Given the description of an element on the screen output the (x, y) to click on. 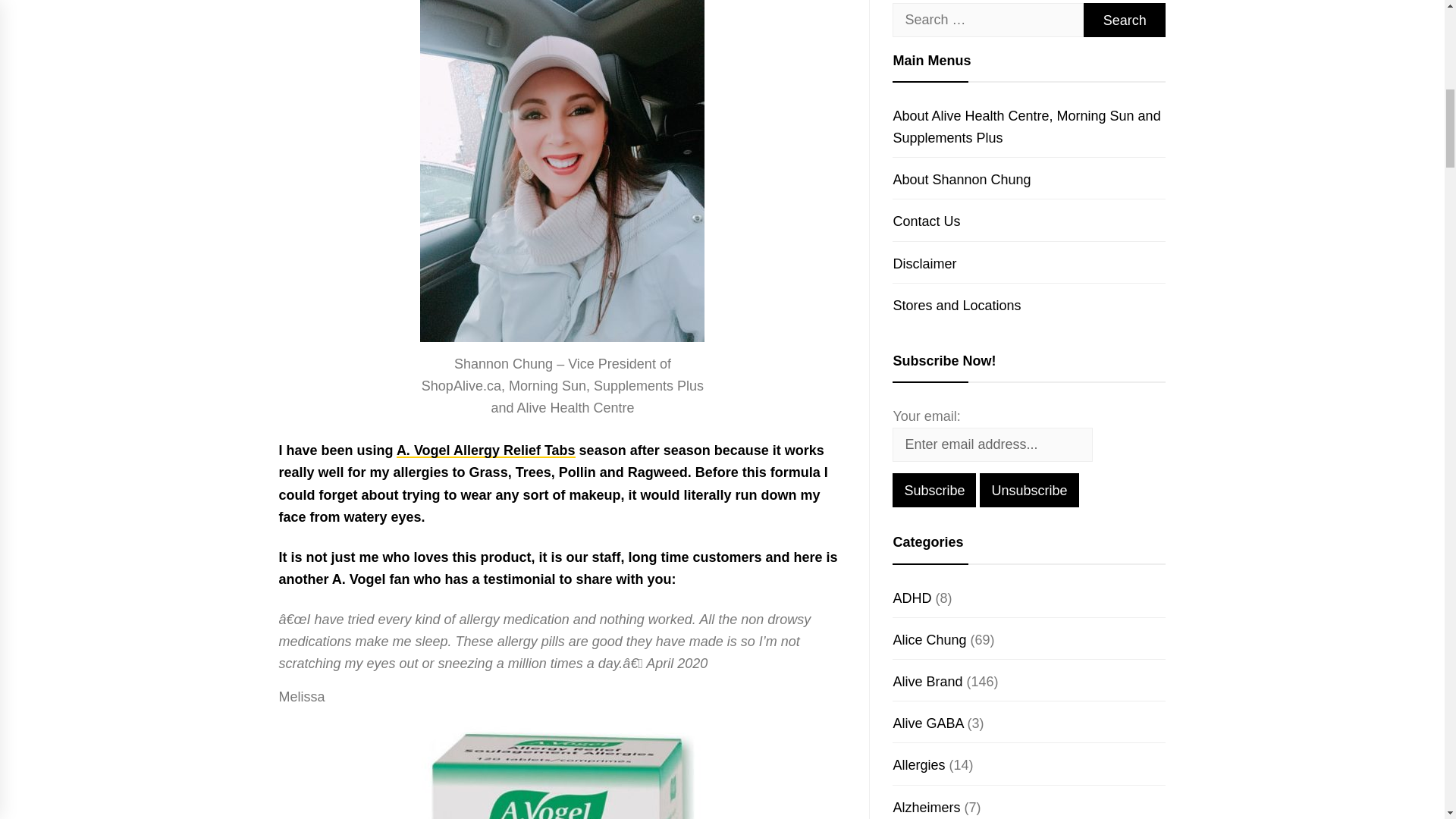
About Alive Health Centre, Morning Sun and Supplements Plus (1026, 126)
A. Vogel Allergy Relief Tabs (485, 450)
Disclaimer (924, 263)
Search (1124, 19)
Subscribe (933, 489)
Allergies (918, 765)
About Shannon Chung (961, 179)
Unsubscribe (1028, 489)
Alive Brand (927, 681)
Subscribe (933, 489)
